Given the description of an element on the screen output the (x, y) to click on. 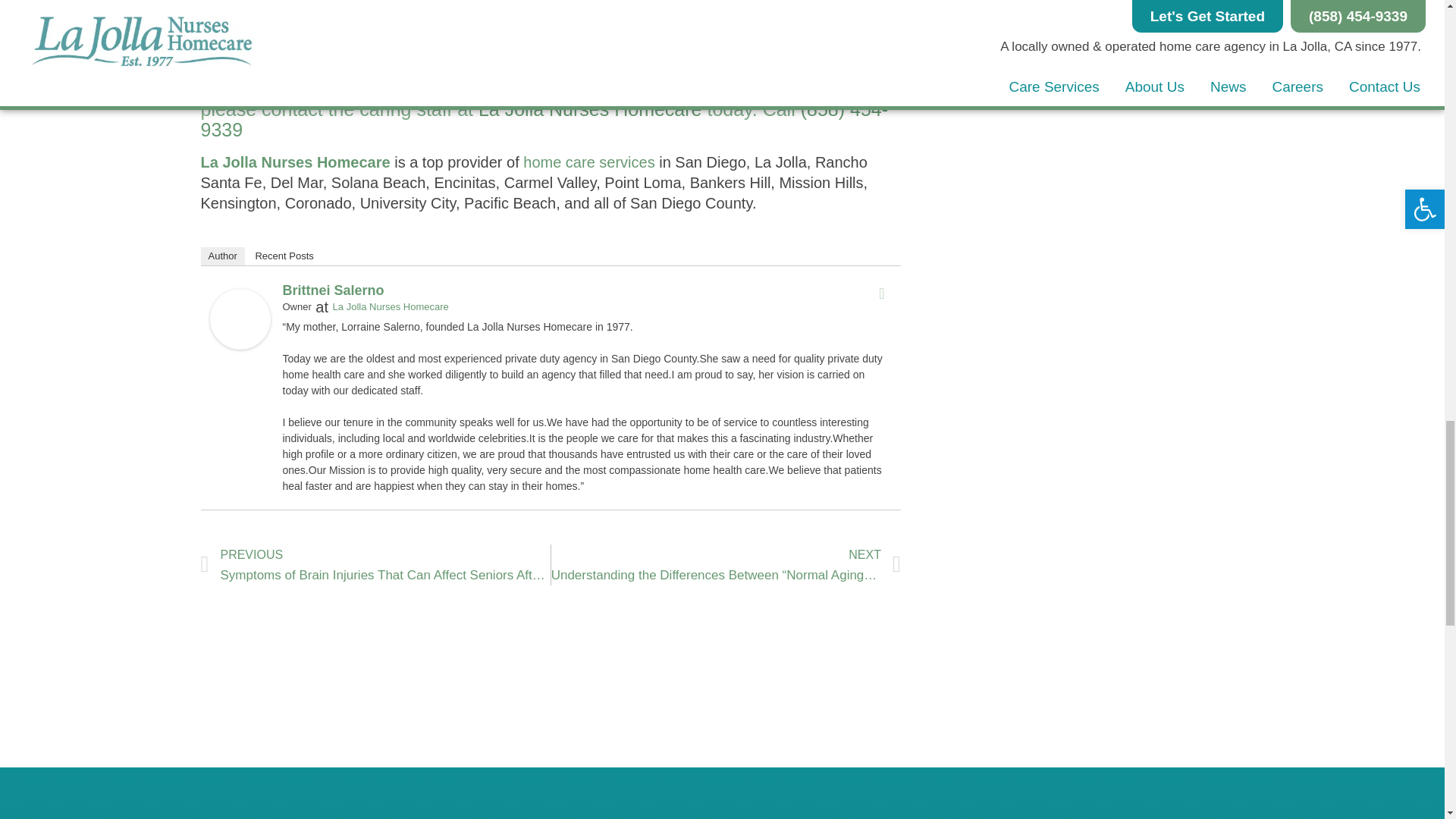
Newsletter Sign Up LJHC (882, 816)
Brittnei Salerno (239, 343)
Facebook (881, 293)
